Given the description of an element on the screen output the (x, y) to click on. 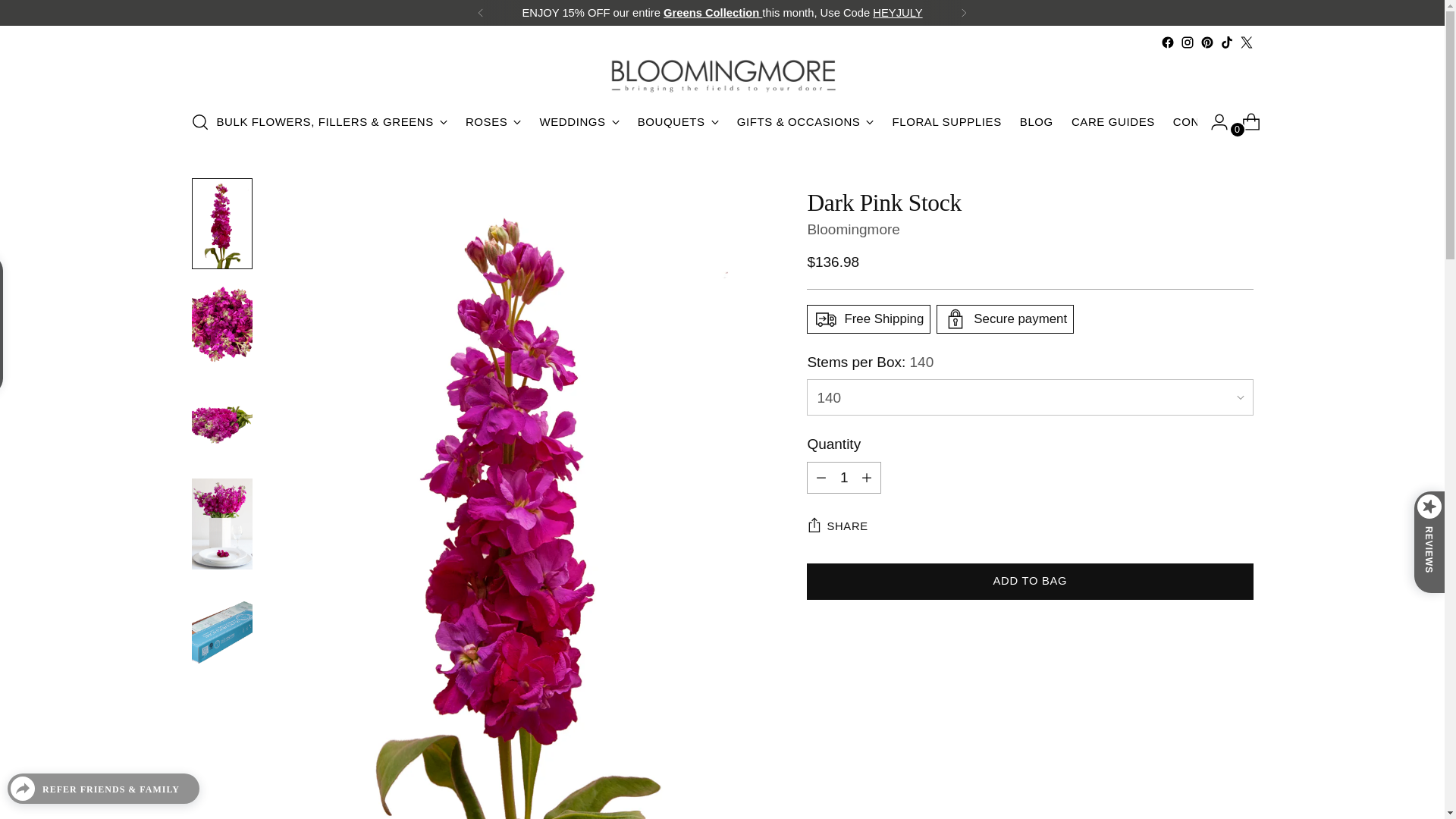
Previous (480, 12)
Bloomingmore on Instagram (1186, 42)
Bloomingmore on Tiktok (1226, 42)
Bloomingmore (852, 229)
Bloomingmore on Twitter (1245, 42)
Bloomingmore on Pinterest (1205, 42)
Next (963, 12)
1 (843, 477)
Bloomingmore on Facebook (1166, 42)
